Given the description of an element on the screen output the (x, y) to click on. 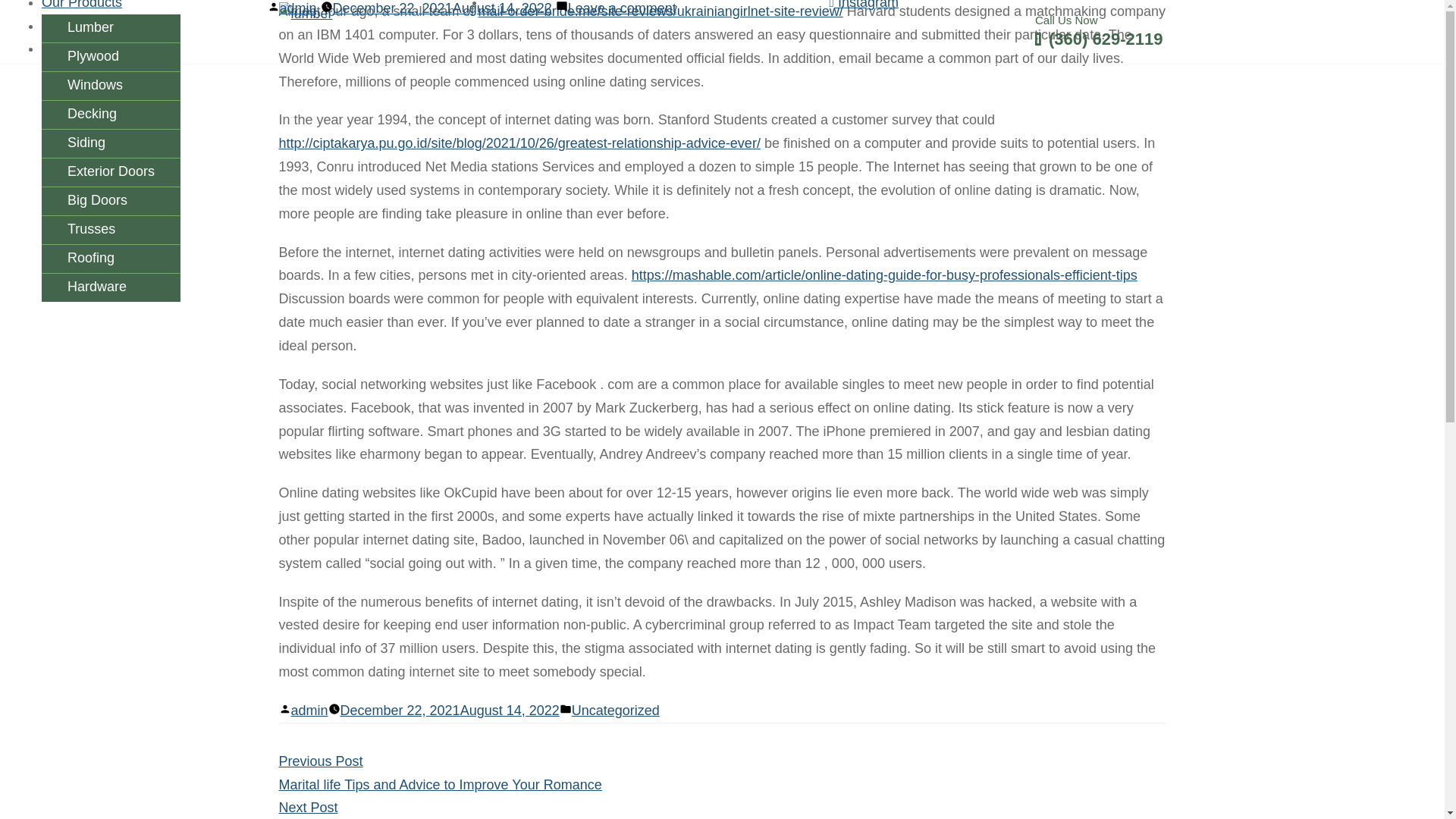
Leave a comment (622, 7)
Lumber (111, 28)
Our Products (82, 4)
Uncategorized (615, 710)
Exterior Doors (111, 172)
Roofing (111, 258)
Trusses (111, 230)
Hardware (111, 287)
Resources (74, 25)
Plywood (111, 57)
Big Doors (111, 201)
Contact (65, 48)
December 22, 2021August 14, 2022 (449, 710)
admin (297, 7)
